Given the description of an element on the screen output the (x, y) to click on. 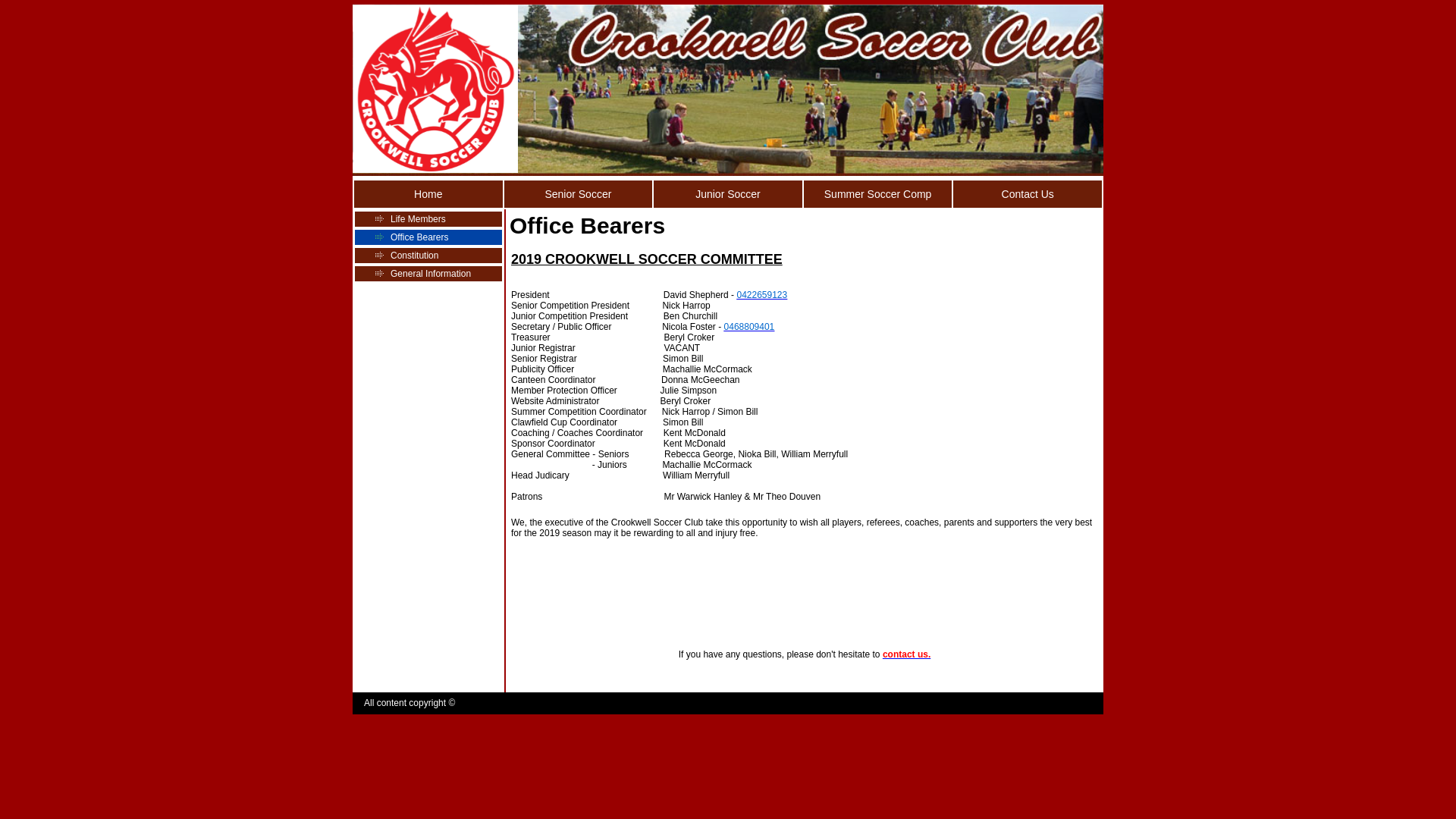
Constitution Element type: text (428, 255)
Life Members Element type: text (428, 218)
0468809401 Element type: text (749, 326)
0422659123 Element type: text (761, 294)
General Information Element type: text (428, 273)
General Information Element type: text (430, 273)
Contact Us Element type: text (1027, 193)
Senior Soccer Element type: text (578, 193)
Summer Soccer Comp Element type: text (877, 193)
Summer Soccer Comp Element type: text (877, 194)
Office Bearers Element type: text (419, 237)
Home Element type: text (428, 194)
Home Element type: text (428, 193)
Junior Soccer Element type: text (727, 194)
Constitution Element type: text (414, 255)
Life Members Element type: text (417, 218)
Office Bearers Element type: text (428, 237)
Senior Soccer Element type: text (577, 194)
Junior Soccer Element type: text (727, 193)
contact us. Element type: text (906, 654)
Contact Us Element type: text (1027, 194)
